Given the description of an element on the screen output the (x, y) to click on. 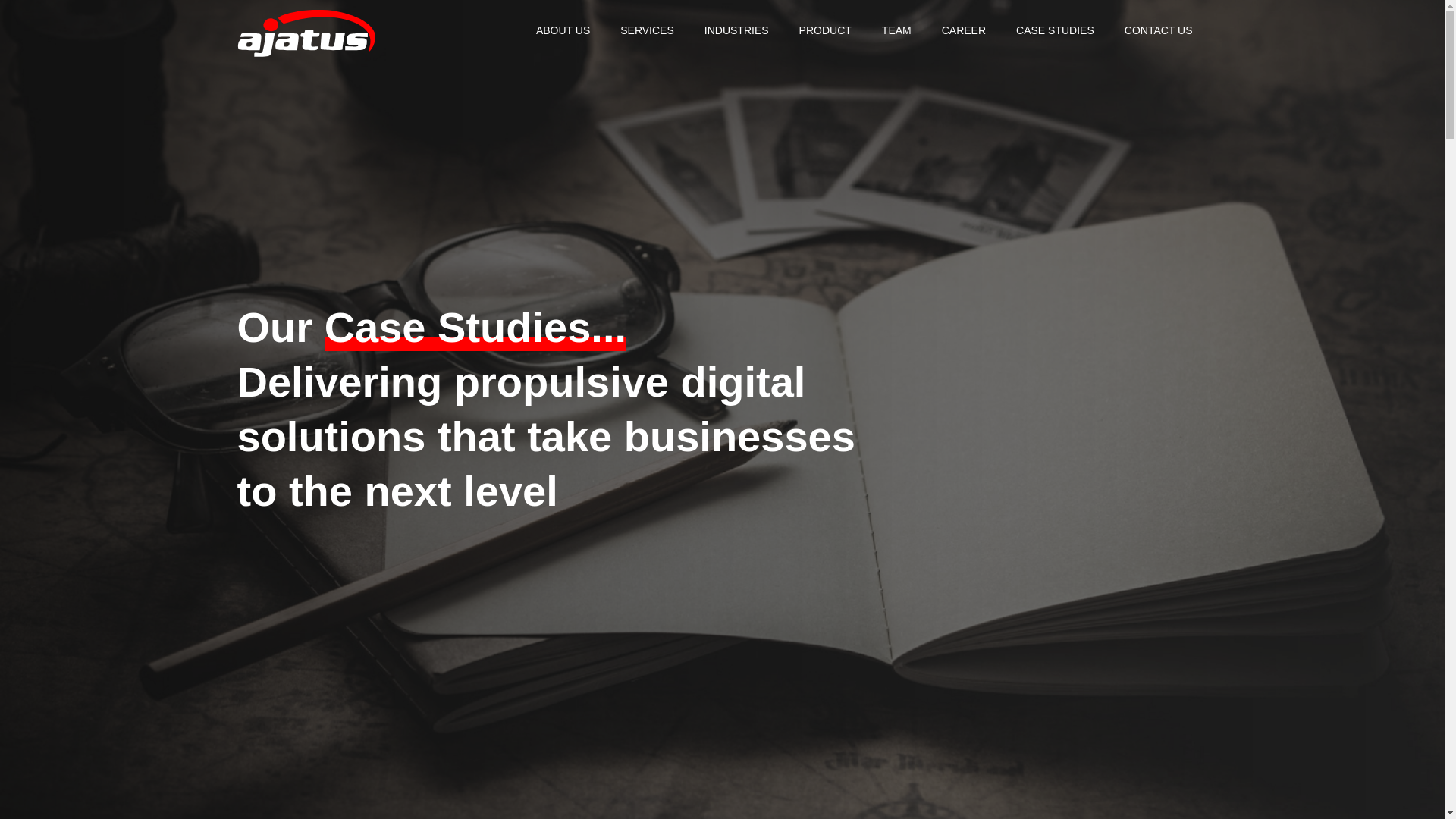
ABOUT US (563, 30)
CONTACT US (1158, 30)
TEAM (896, 30)
Ajatus (306, 36)
PRODUCT (825, 30)
SERVICES (646, 30)
CASE STUDIES (1055, 30)
INDUSTRIES (736, 30)
CAREER (963, 30)
